Given the description of an element on the screen output the (x, y) to click on. 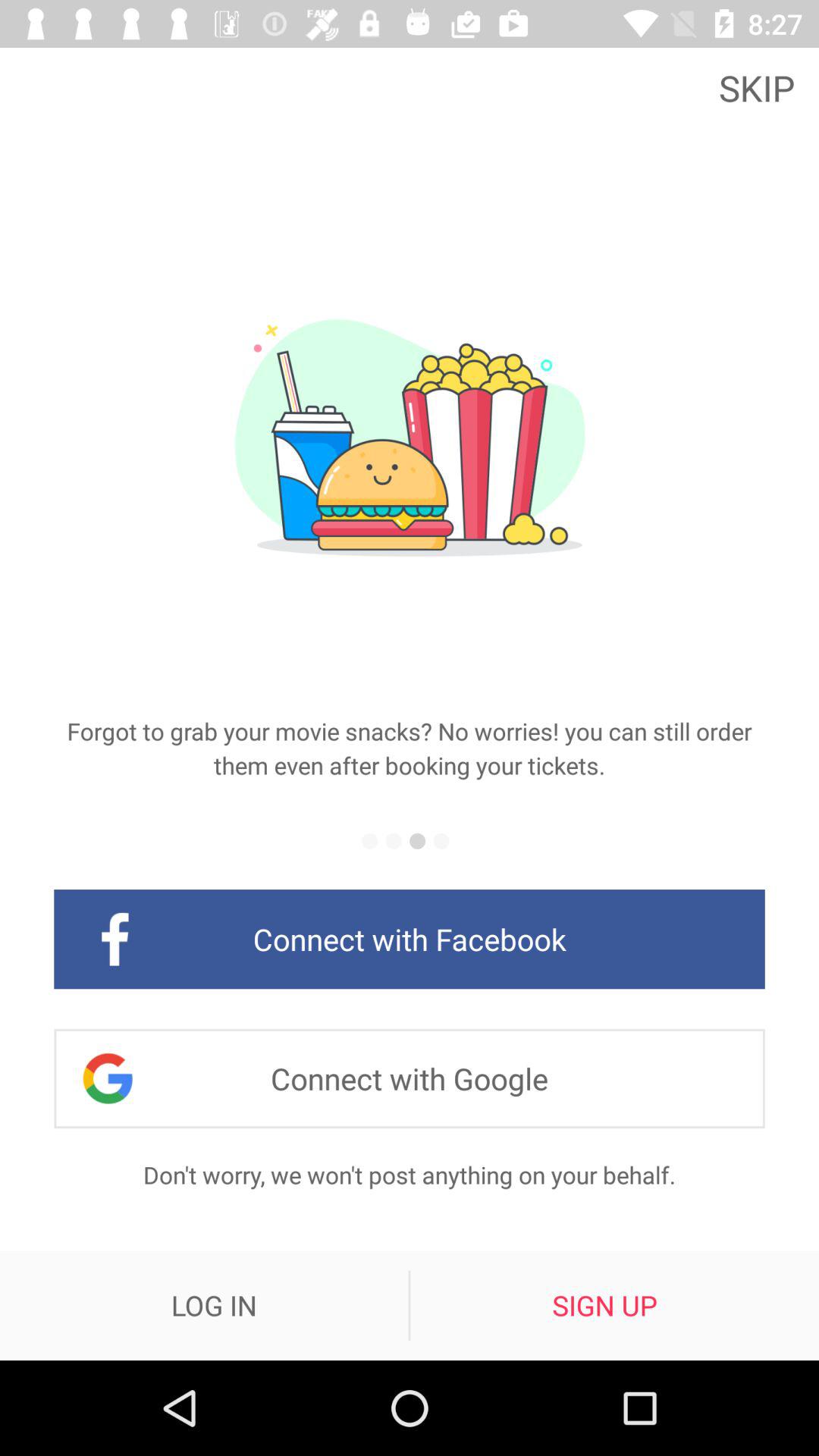
flip until the sign up item (604, 1305)
